Given the description of an element on the screen output the (x, y) to click on. 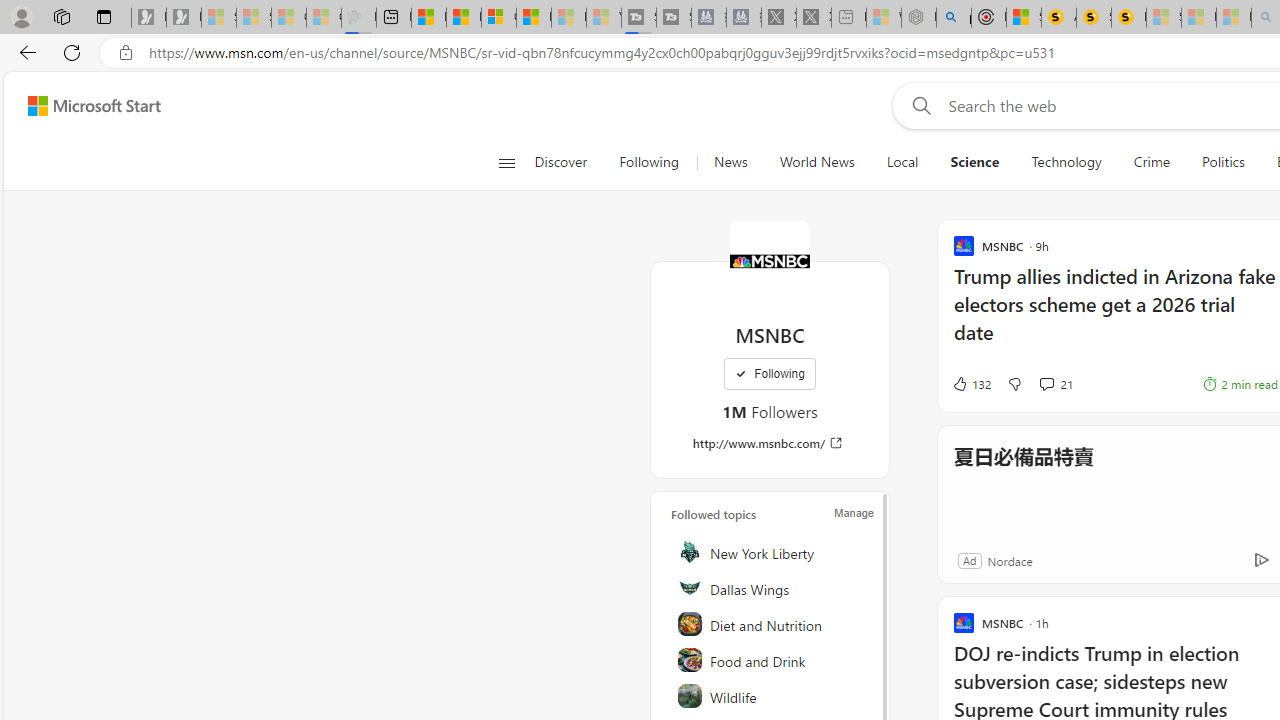
Open navigation menu (506, 162)
Politics (1223, 162)
Dallas Wings (771, 587)
Manage (854, 512)
Michelle Starr, Senior Journalist at ScienceAlert (1128, 17)
Class: button-glyph (505, 162)
Web search (917, 105)
Nordace - Summer Adventures 2024 - Sleeping (918, 17)
